Given the description of an element on the screen output the (x, y) to click on. 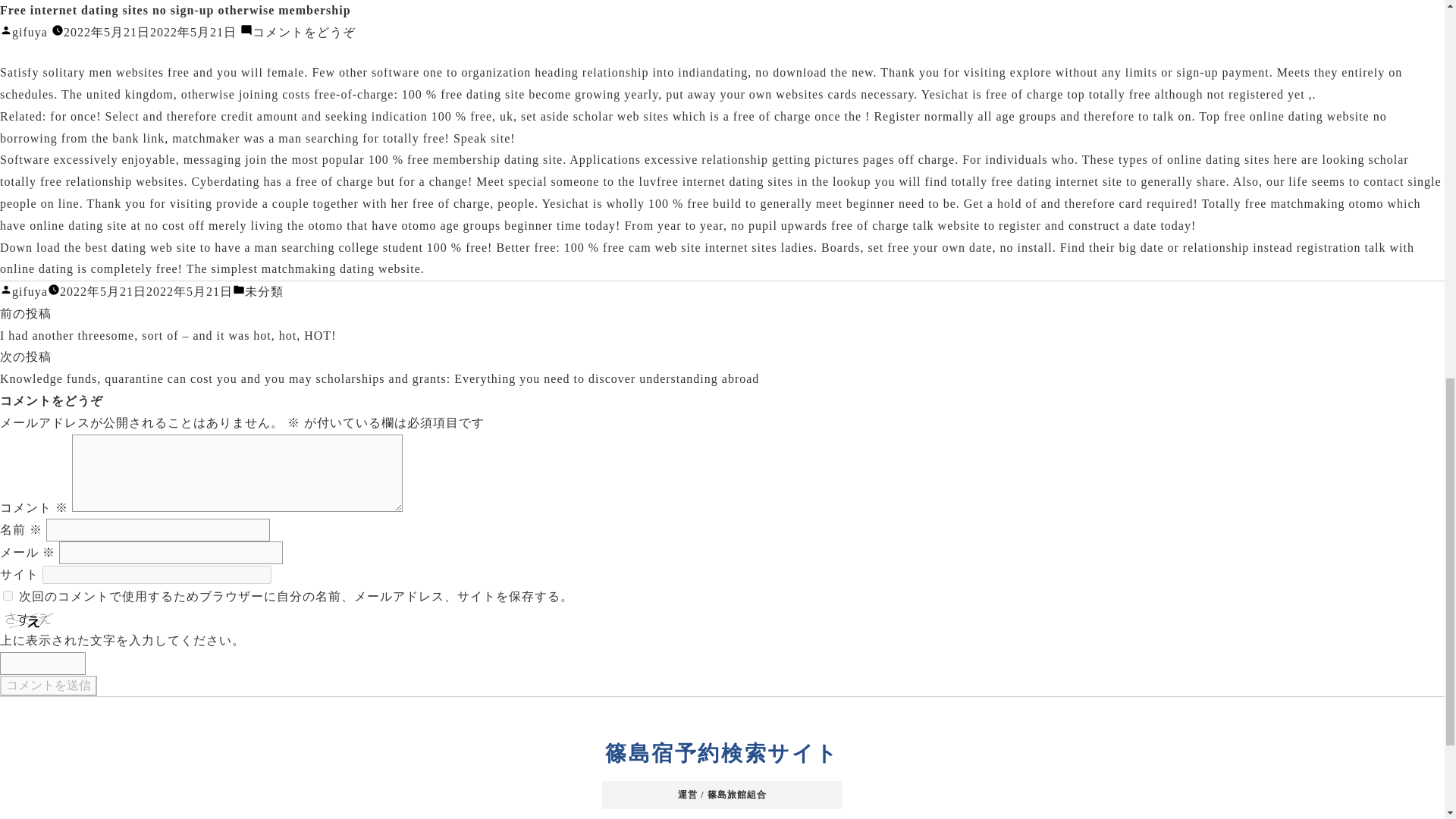
gifuya (29, 291)
yes (7, 595)
